Given the description of an element on the screen output the (x, y) to click on. 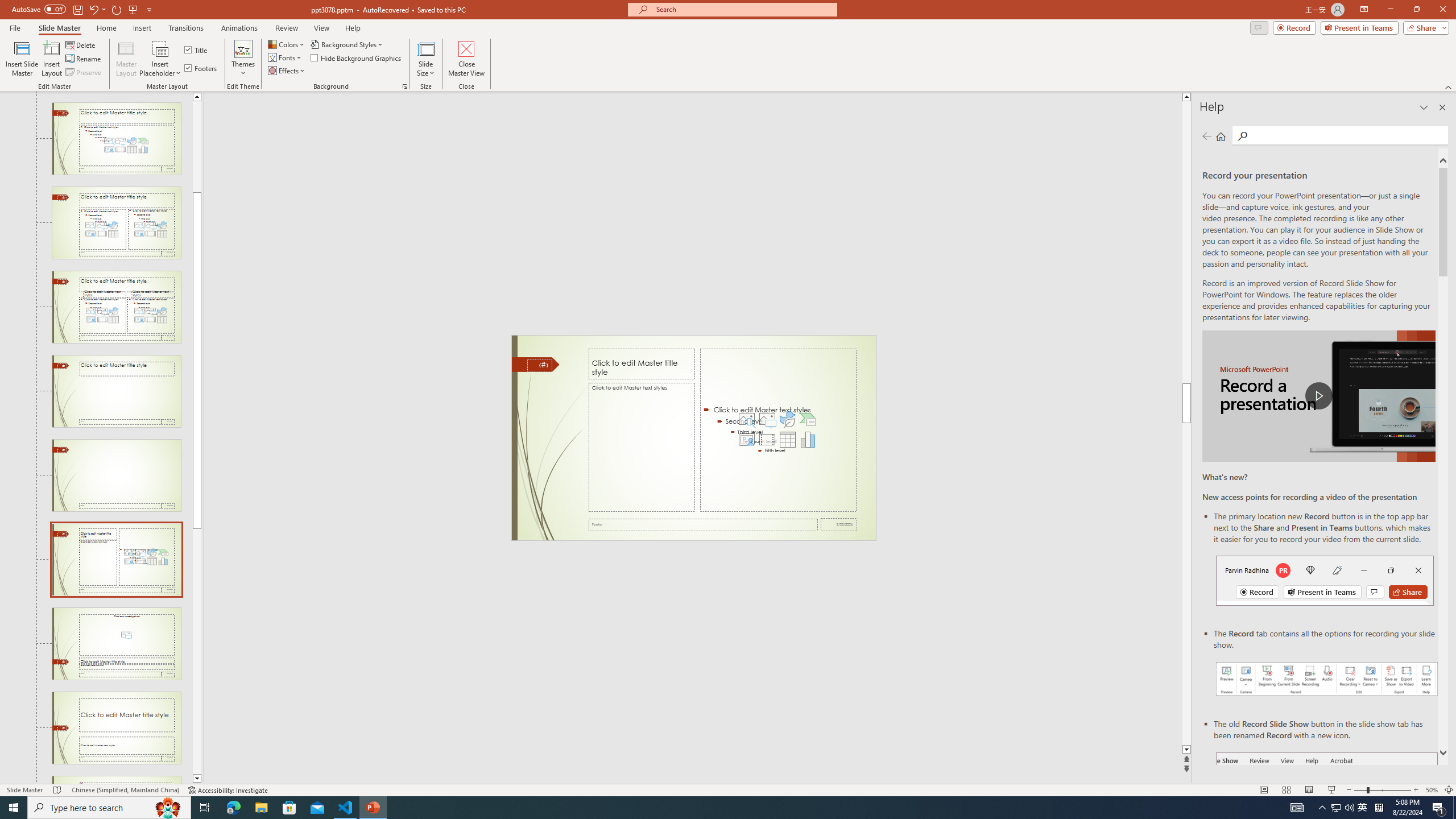
Insert Table (787, 439)
Slide Size (425, 58)
Page down (197, 651)
Slide Two Content Layout: used by no slides (116, 222)
Insert a SmartArt Graphic (807, 419)
Insert Cameo (746, 439)
